Given the description of an element on the screen output the (x, y) to click on. 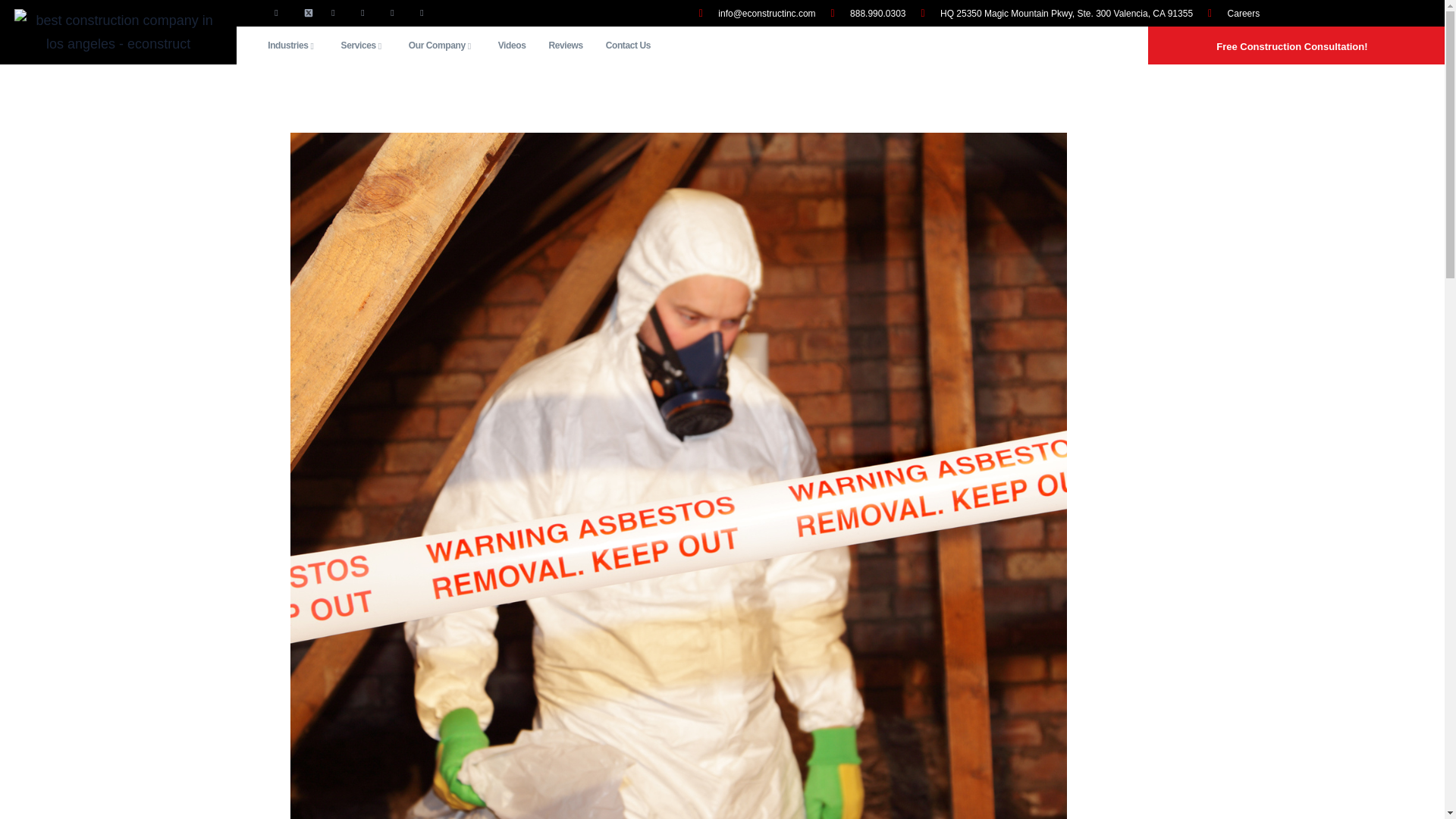
Industries (292, 45)
best construction company in los angeles - econstruct (118, 31)
